Given the description of an element on the screen output the (x, y) to click on. 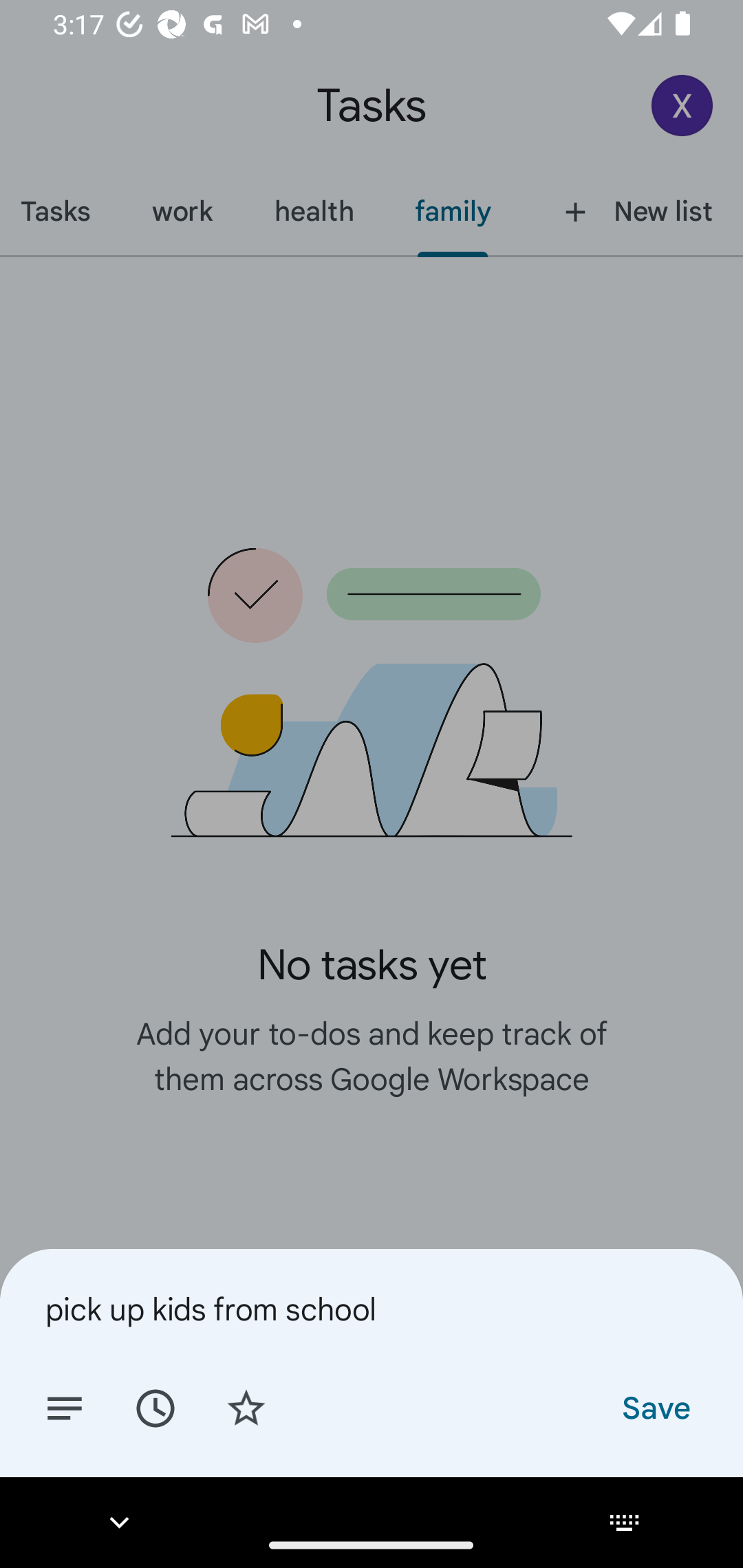
pick up kids from school (371, 1308)
Save (655, 1407)
Add details (64, 1407)
Set date/time (154, 1407)
Add star (245, 1407)
